Given the description of an element on the screen output the (x, y) to click on. 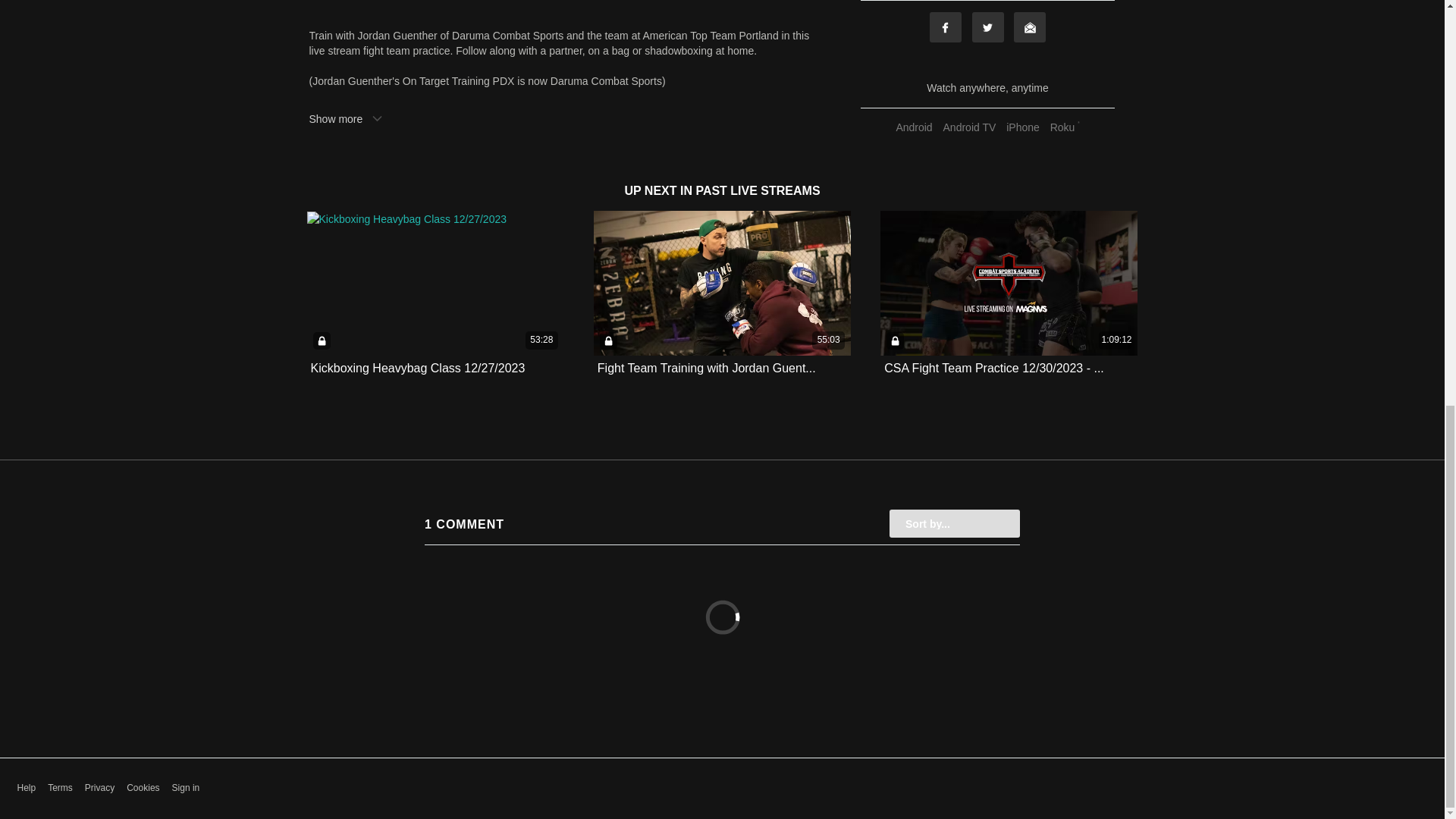
Facebook (945, 27)
Help (25, 788)
53:28 (434, 282)
Android (913, 127)
1:09:12 (1008, 282)
iPhone (1023, 127)
Fight Team Training with Jordan Guent... (705, 368)
Android TV (969, 127)
Twitter (988, 27)
Fight Team Training with Jordan Guent... (705, 367)
Email (1029, 27)
55:03 (722, 282)
PAST LIVE STREAMS (757, 190)
Terms (60, 788)
Privacy (99, 788)
